Given the description of an element on the screen output the (x, y) to click on. 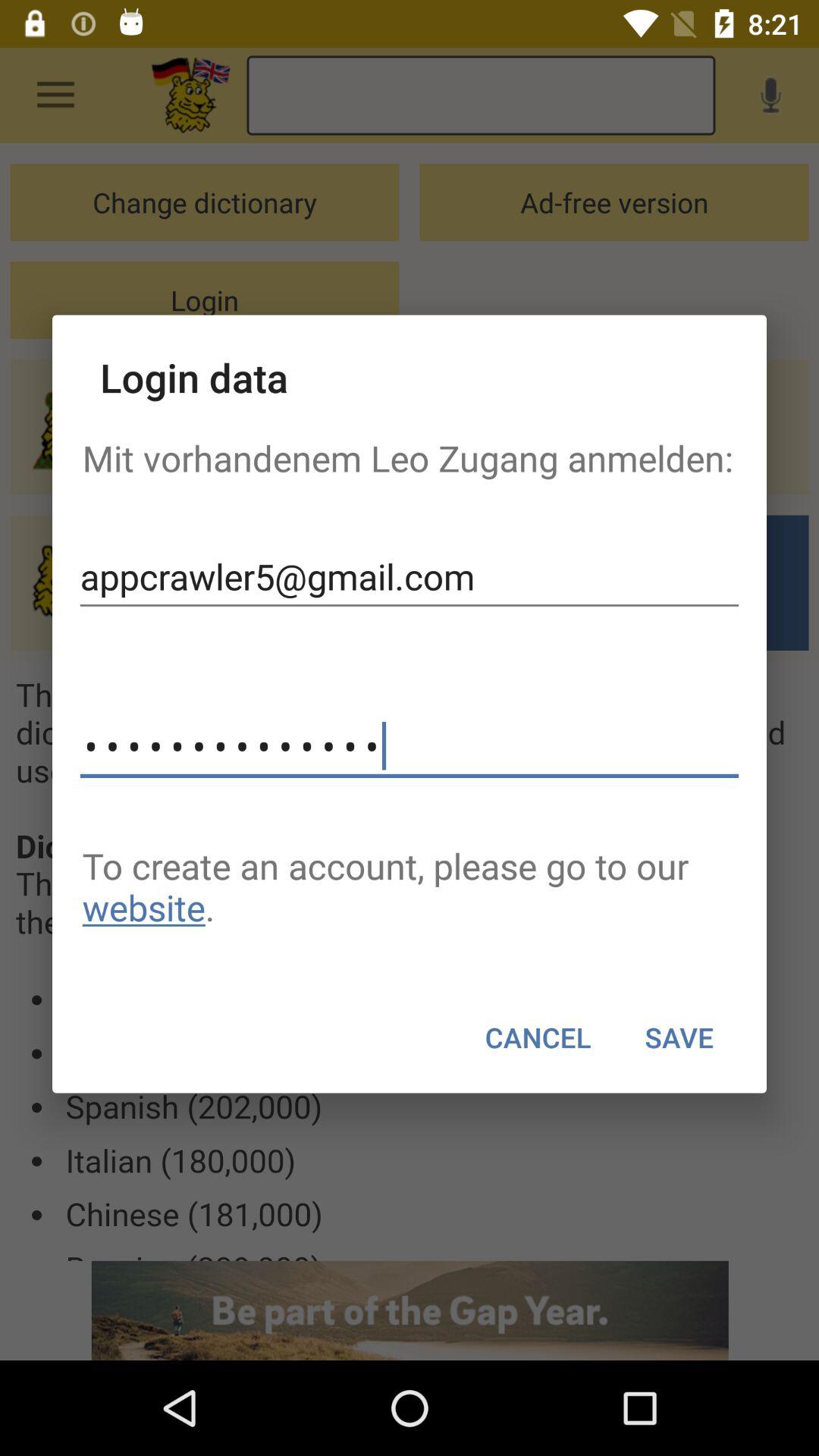
press the item above the to create an (409, 746)
